Given the description of an element on the screen output the (x, y) to click on. 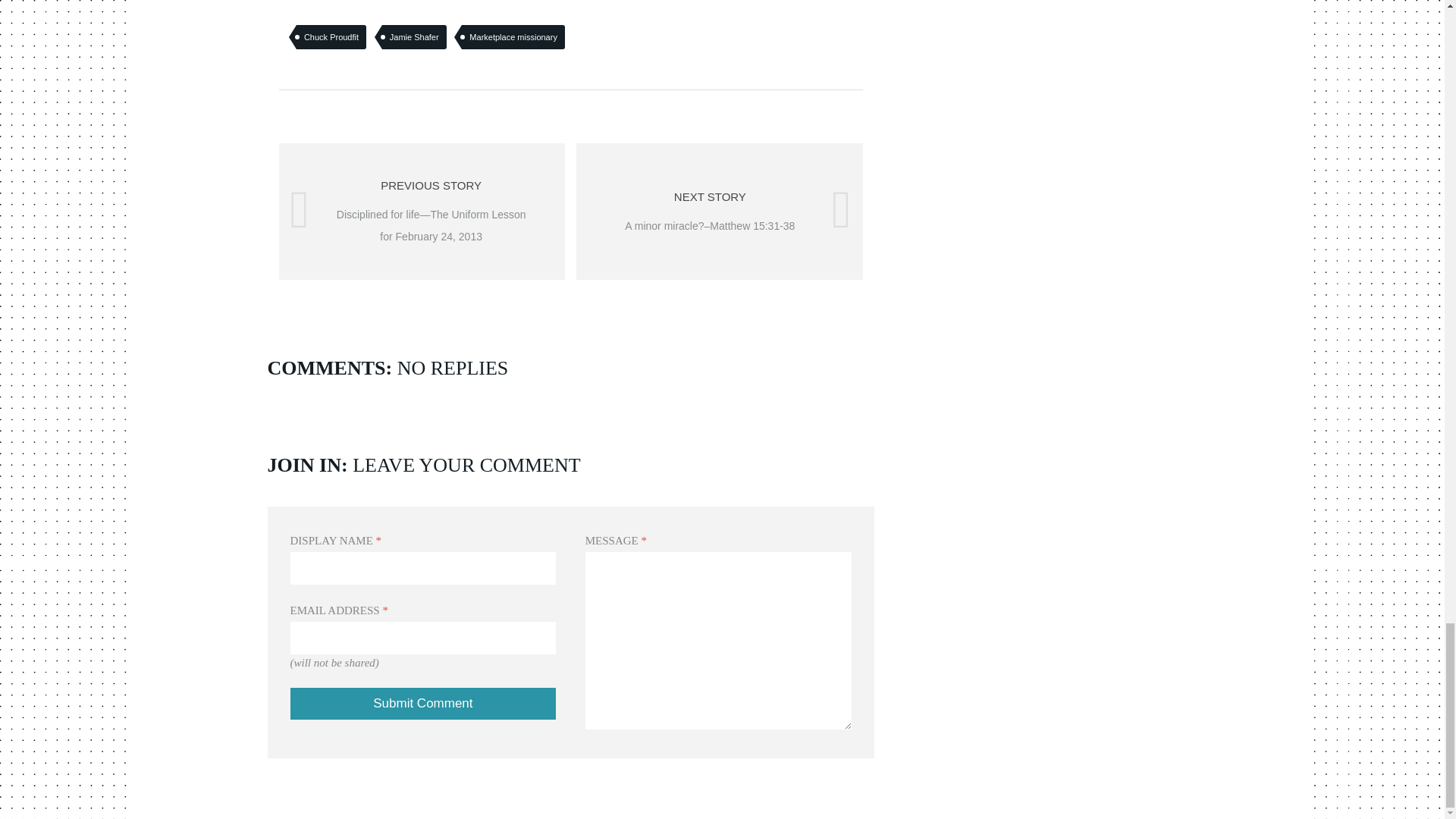
Submit Comment (422, 703)
Marketplace missionary (512, 37)
Jamie Shafer (413, 37)
Submit Comment (422, 703)
Chuck Proudfit (331, 37)
